Given the description of an element on the screen output the (x, y) to click on. 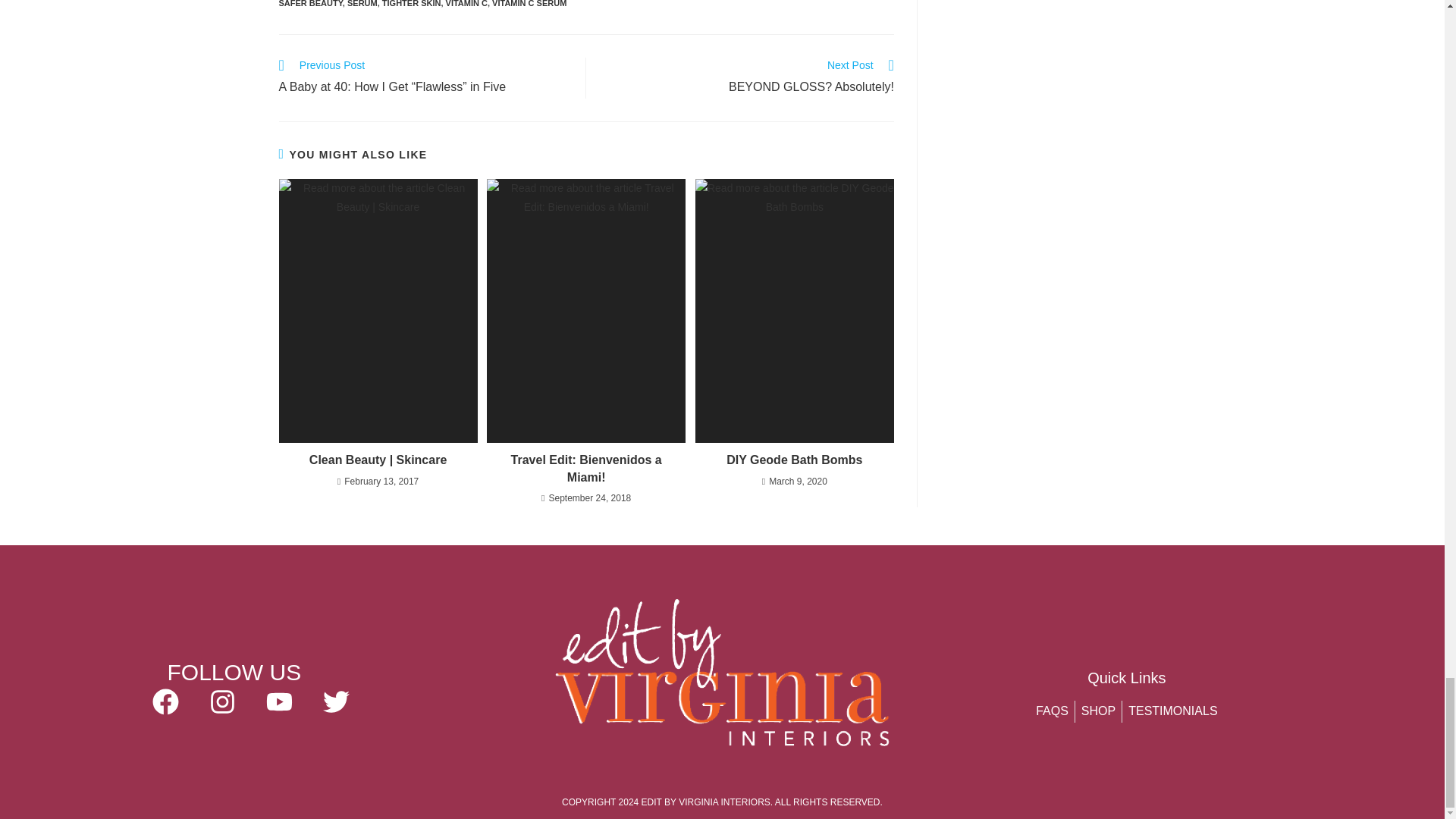
SAFER BEAUTY (310, 3)
VITAMIN C SERUM (529, 3)
VITAMIN C (466, 3)
SERUM (747, 77)
TIGHTER SKIN (362, 3)
